Given the description of an element on the screen output the (x, y) to click on. 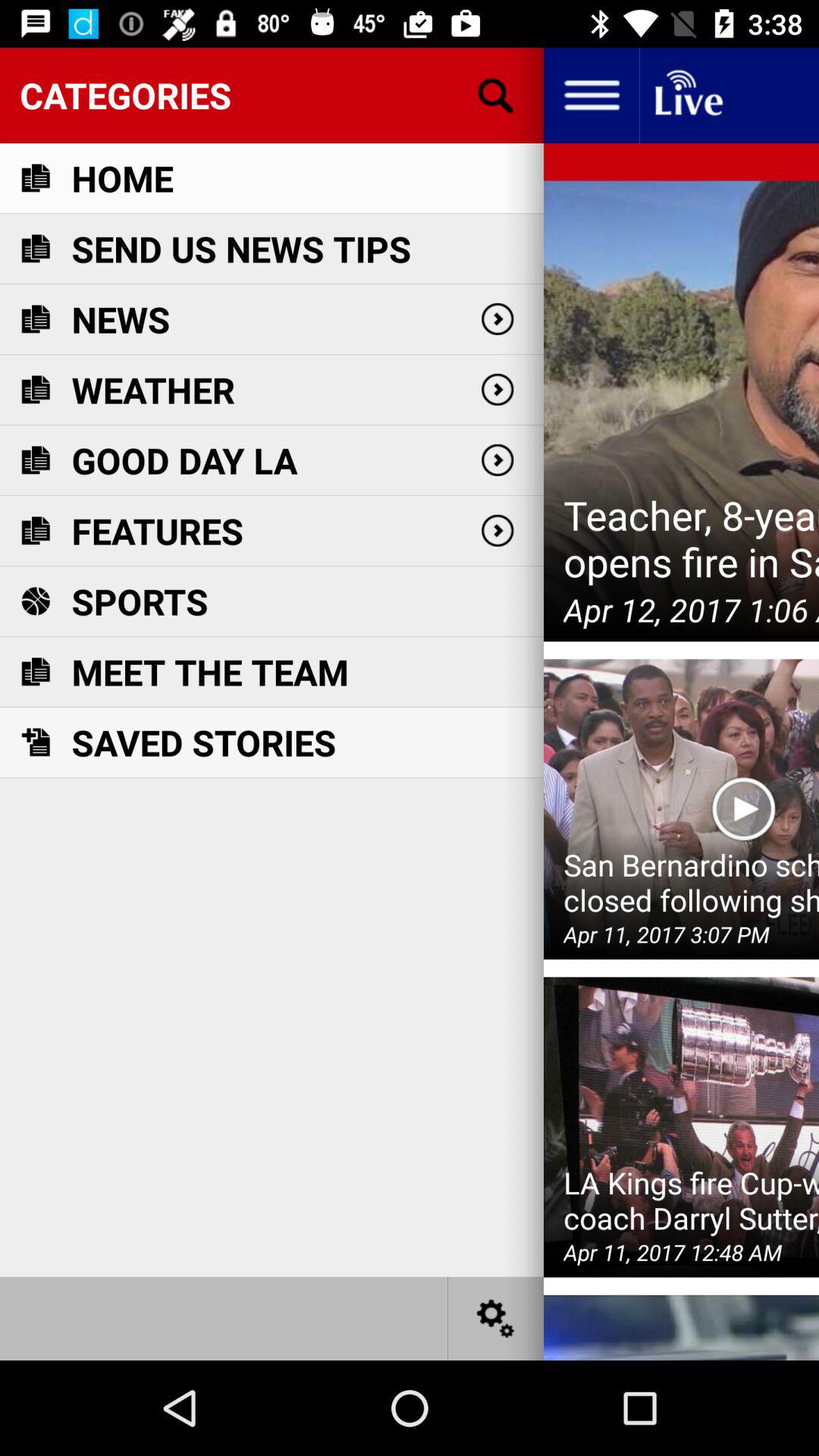
open icon below the sports item (209, 671)
